Given the description of an element on the screen output the (x, y) to click on. 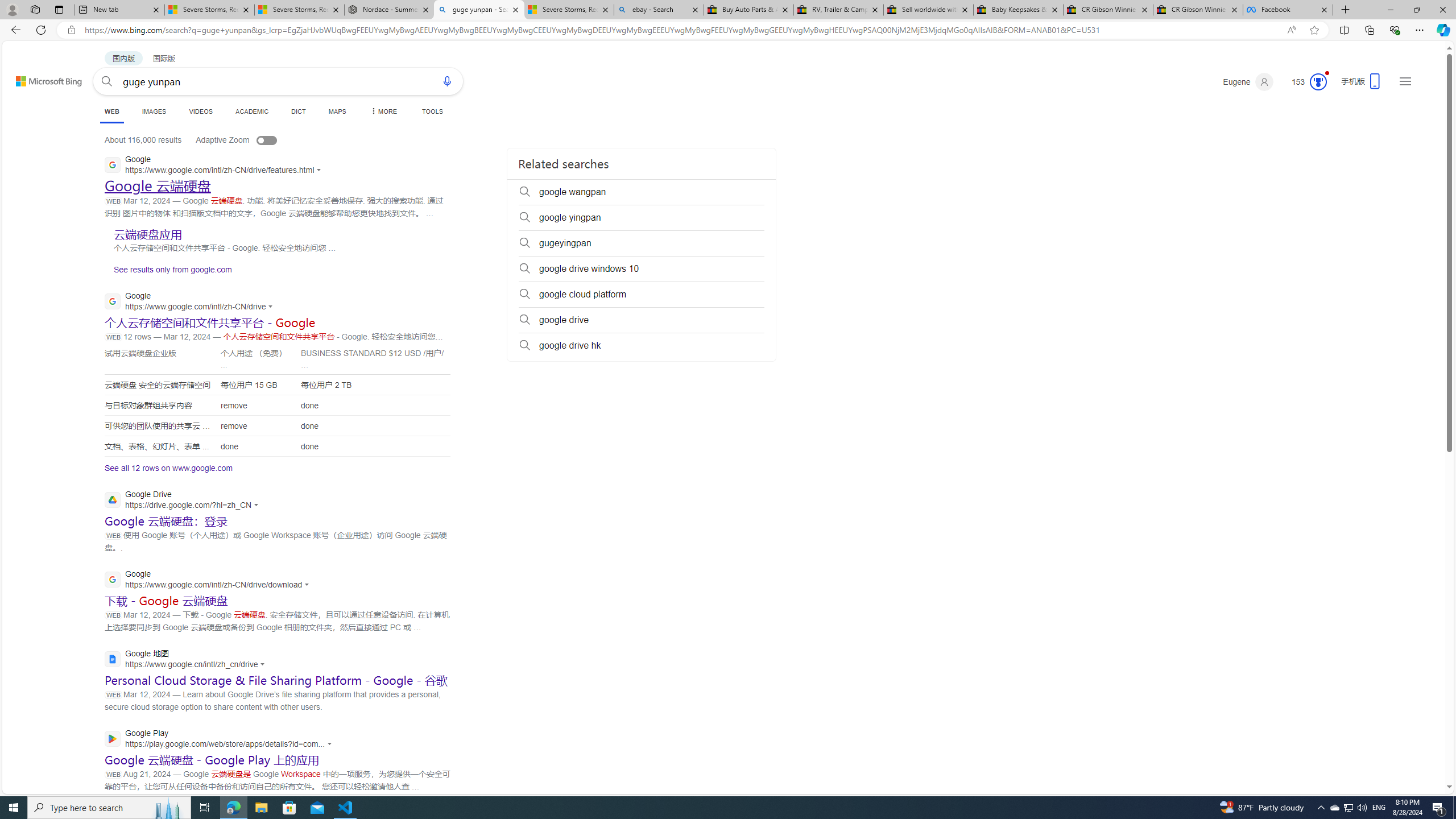
Browser essentials (1394, 29)
VIDEOS (201, 111)
Actions for this site (330, 743)
IMAGES (153, 111)
google drive (641, 319)
VIDEOS (201, 111)
Microsoft Rewards 153 (1304, 81)
New Tab (1346, 9)
TOOLS (431, 111)
